Given the description of an element on the screen output the (x, y) to click on. 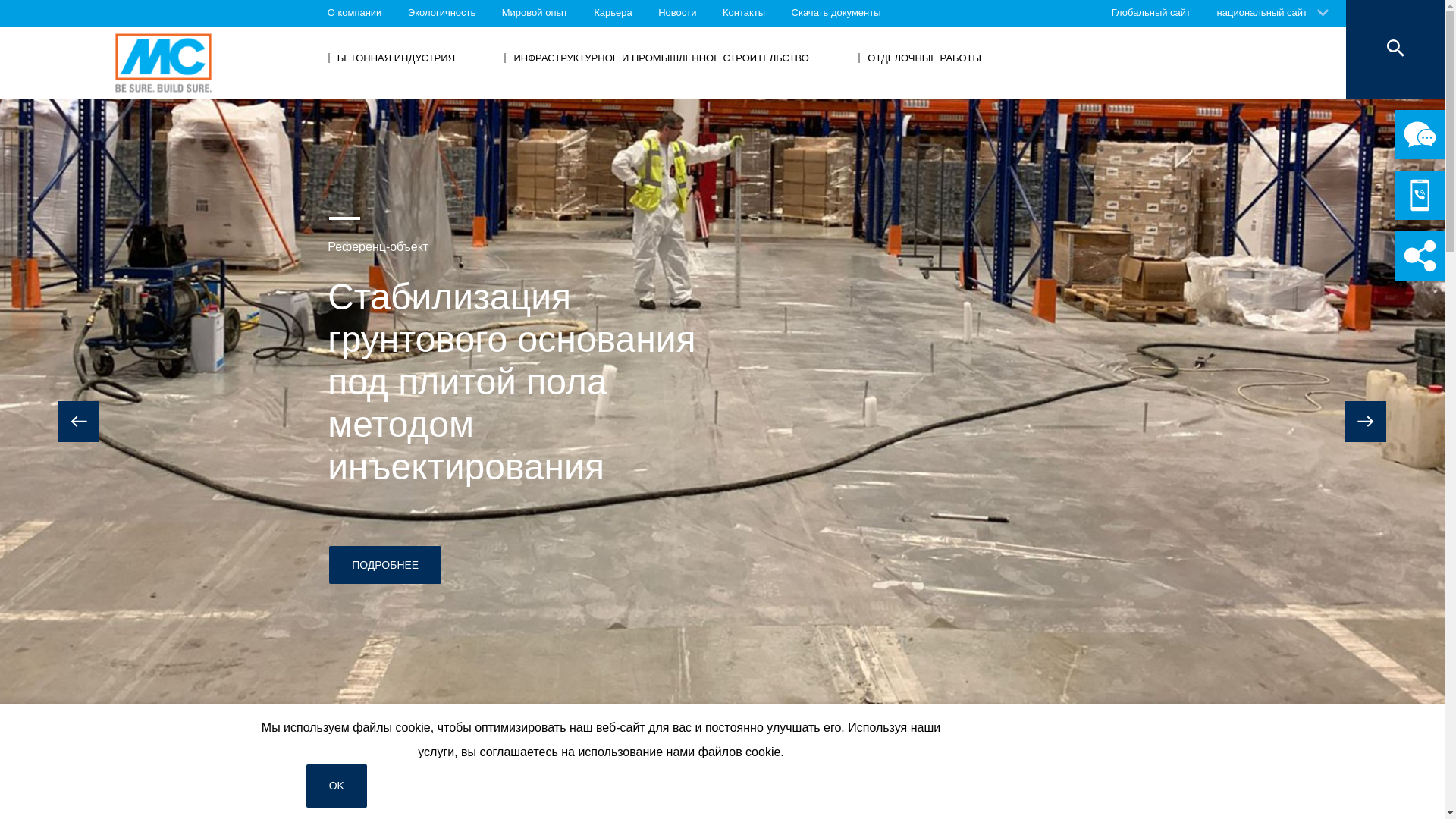
OK Element type: text (336, 785)
MC-Bauchemie Element type: text (163, 62)
OK Element type: text (336, 784)
